Given the description of an element on the screen output the (x, y) to click on. 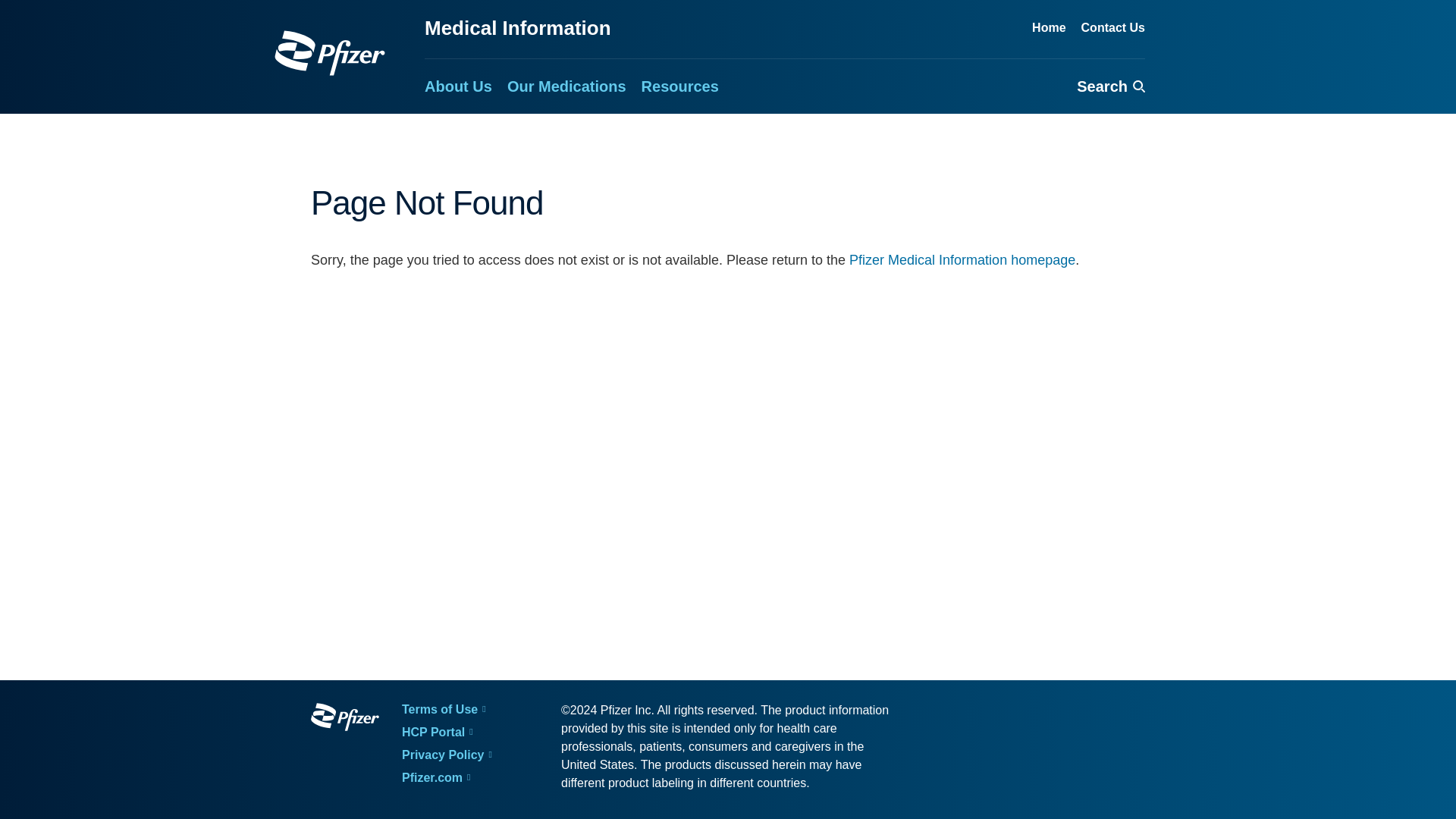
Our Medications (566, 85)
Medical Information (330, 53)
Privacy Policy (446, 754)
Pfizer.com (446, 777)
Contact Us (1112, 28)
Home (1048, 28)
HCP Portal (446, 732)
Terms of Use (446, 709)
Medical Information (518, 27)
Pfizer Medical Information homepage (961, 259)
Medical Information (518, 27)
About Us (458, 85)
Resources (680, 85)
Search (1110, 85)
Pfizer Medical Information (344, 719)
